Given the description of an element on the screen output the (x, y) to click on. 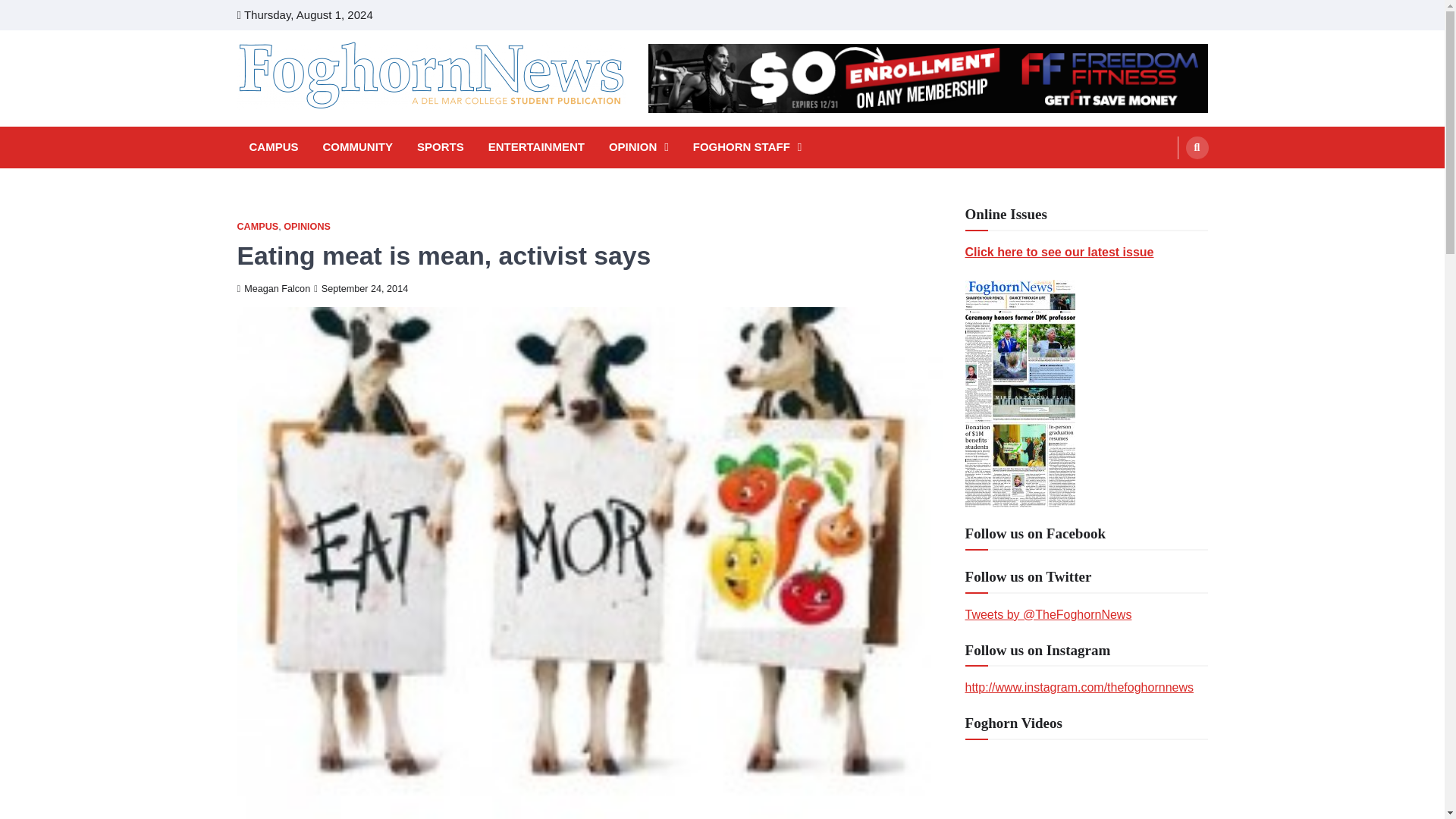
Search (1197, 147)
FOGHORN NEWS (342, 130)
CAMPUS (256, 226)
OPINION (638, 147)
CAMPUS (273, 147)
OPINIONS (306, 226)
ENTERTAINMENT (536, 147)
Click here to see our latest issue (1058, 251)
Search (1168, 183)
Meagan Falcon (272, 288)
FOGHORN STAFF (747, 147)
September 24, 2014 (360, 288)
COMMUNITY (357, 147)
SPORTS (440, 147)
